Given the description of an element on the screen output the (x, y) to click on. 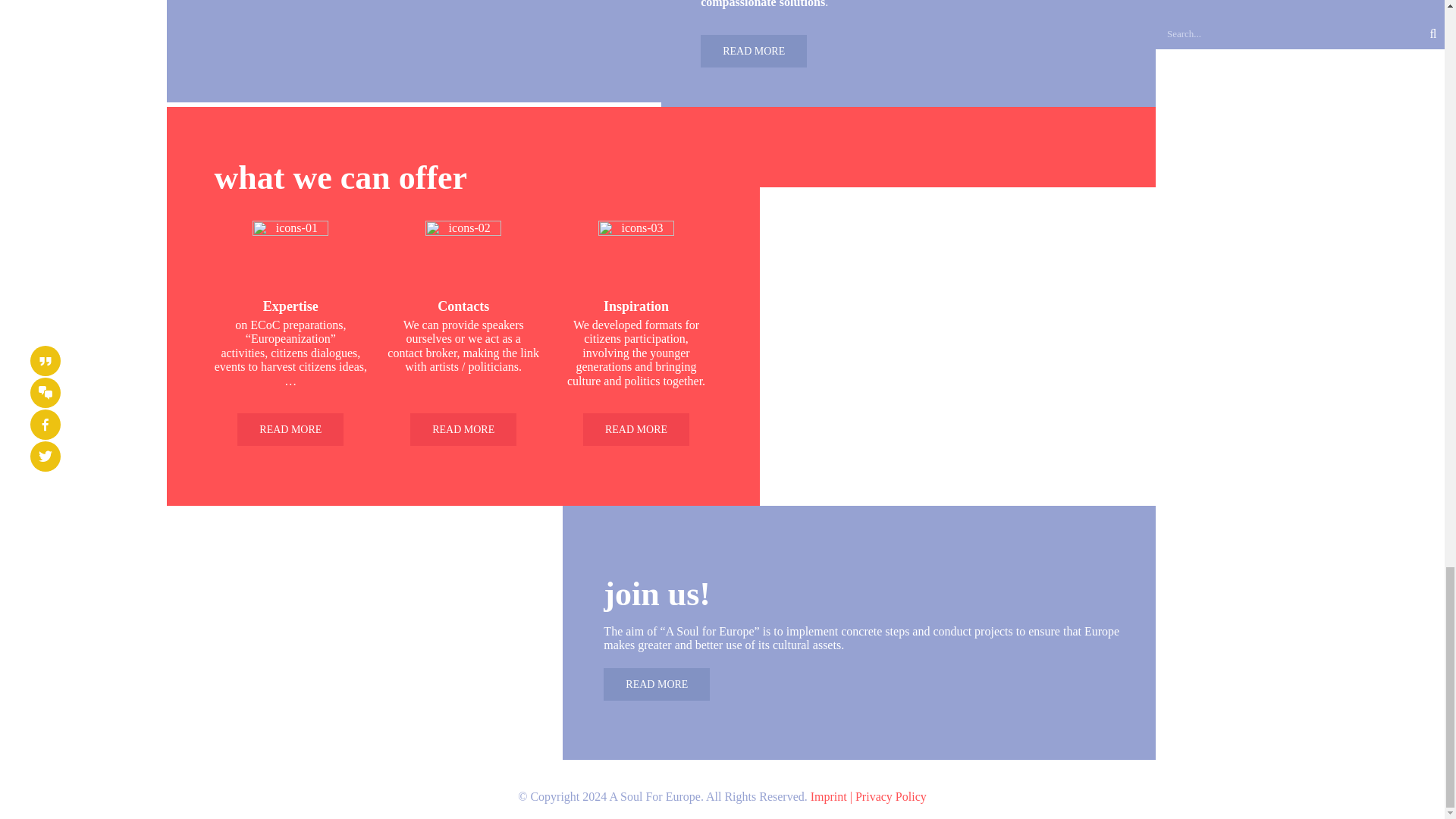
YouTube video player 3 (433, 51)
icons-03 (636, 258)
icons-02 (462, 258)
icons-01 (290, 258)
